Given the description of an element on the screen output the (x, y) to click on. 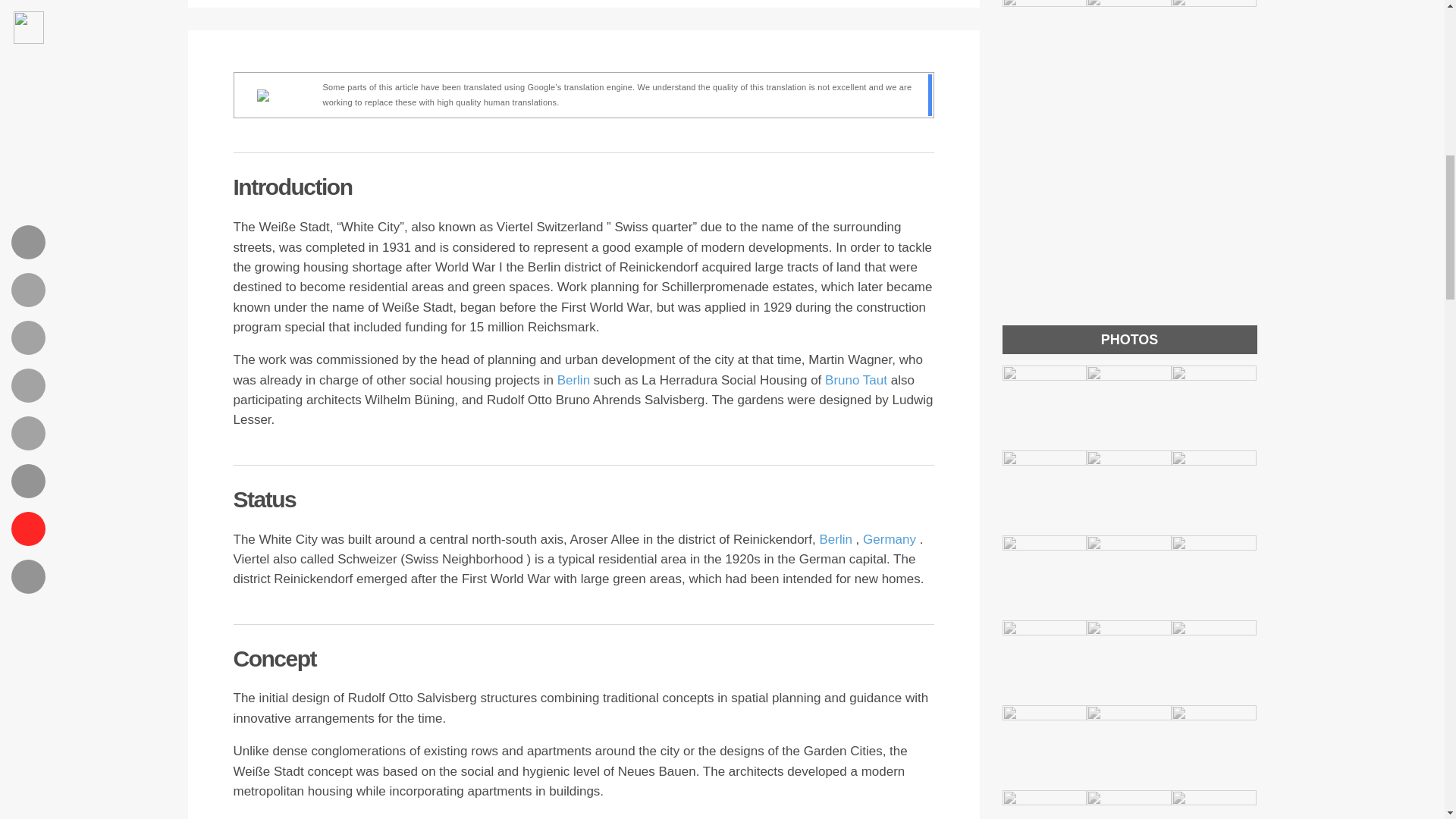
Berlin (575, 380)
Bruno Taut (858, 380)
Berlin (837, 539)
Germany (891, 539)
